Given the description of an element on the screen output the (x, y) to click on. 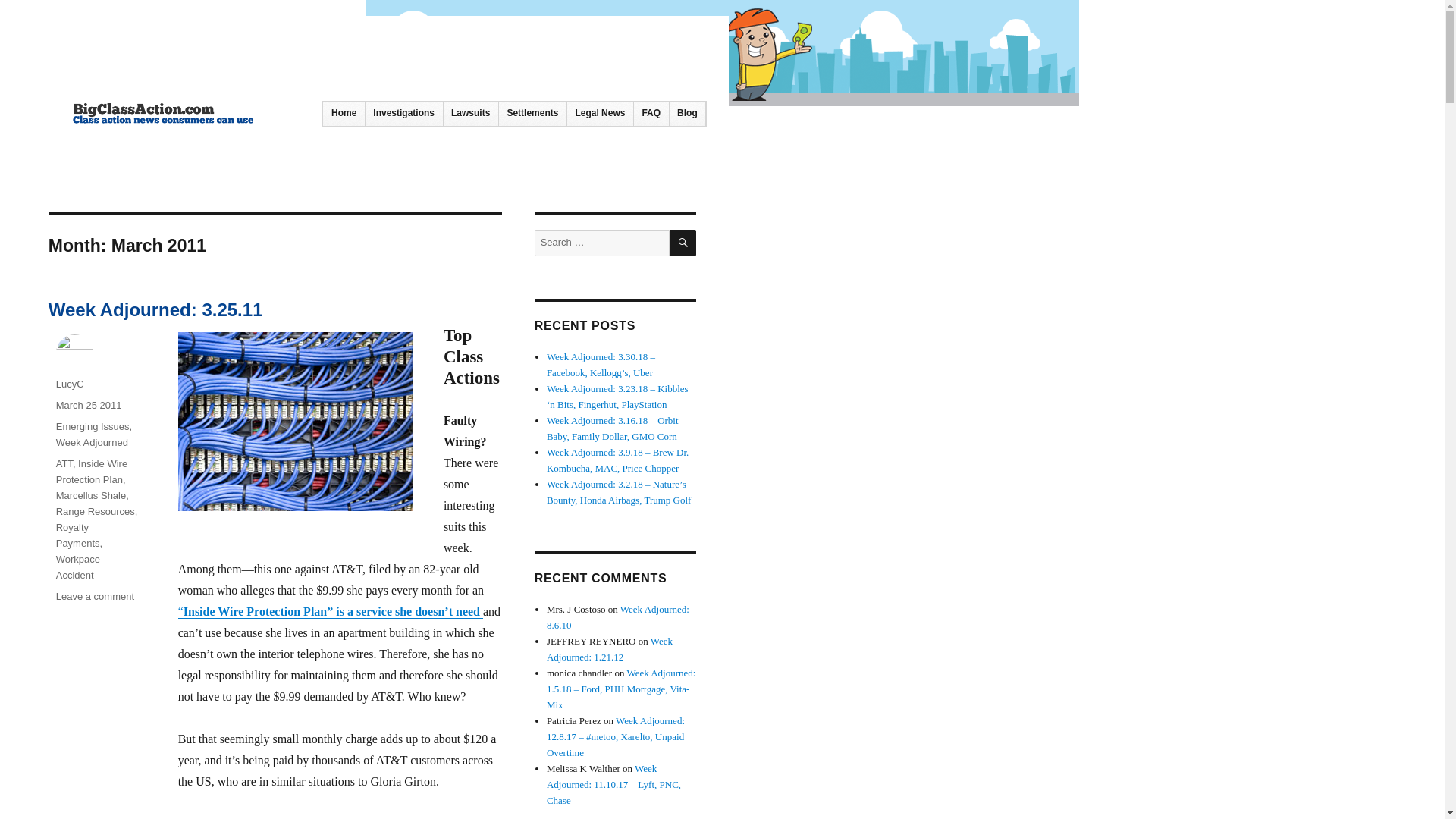
Investigations (403, 113)
Marcellus Shale (91, 495)
LucyC (70, 383)
Week Adjourned: 3.25.11 (155, 309)
Workpace Accident (78, 566)
Home (343, 113)
Royalty Payments (78, 534)
Lawsuits (470, 113)
Class Action News Blog (168, 148)
Range Resources (95, 511)
Settlements (532, 113)
Inside Wire Protection Plan (92, 471)
FAQ (650, 113)
Emerging Issues (92, 426)
Legal News (600, 113)
